Given the description of an element on the screen output the (x, y) to click on. 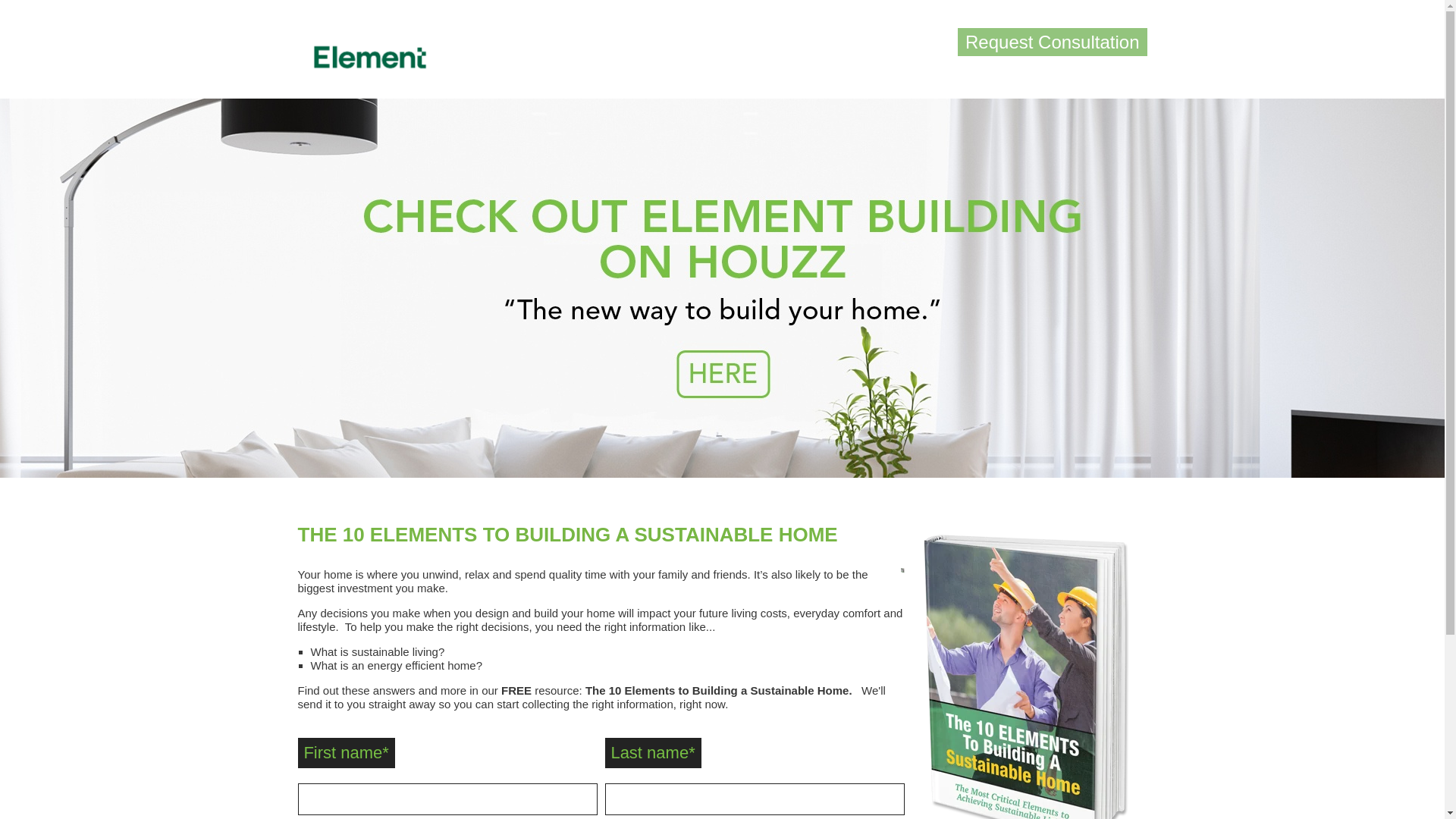
Request Consultation Element type: text (1051, 42)
Element  Element type: hover (369, 56)
Home Designs Element type: hover (722, 287)
